Given the description of an element on the screen output the (x, y) to click on. 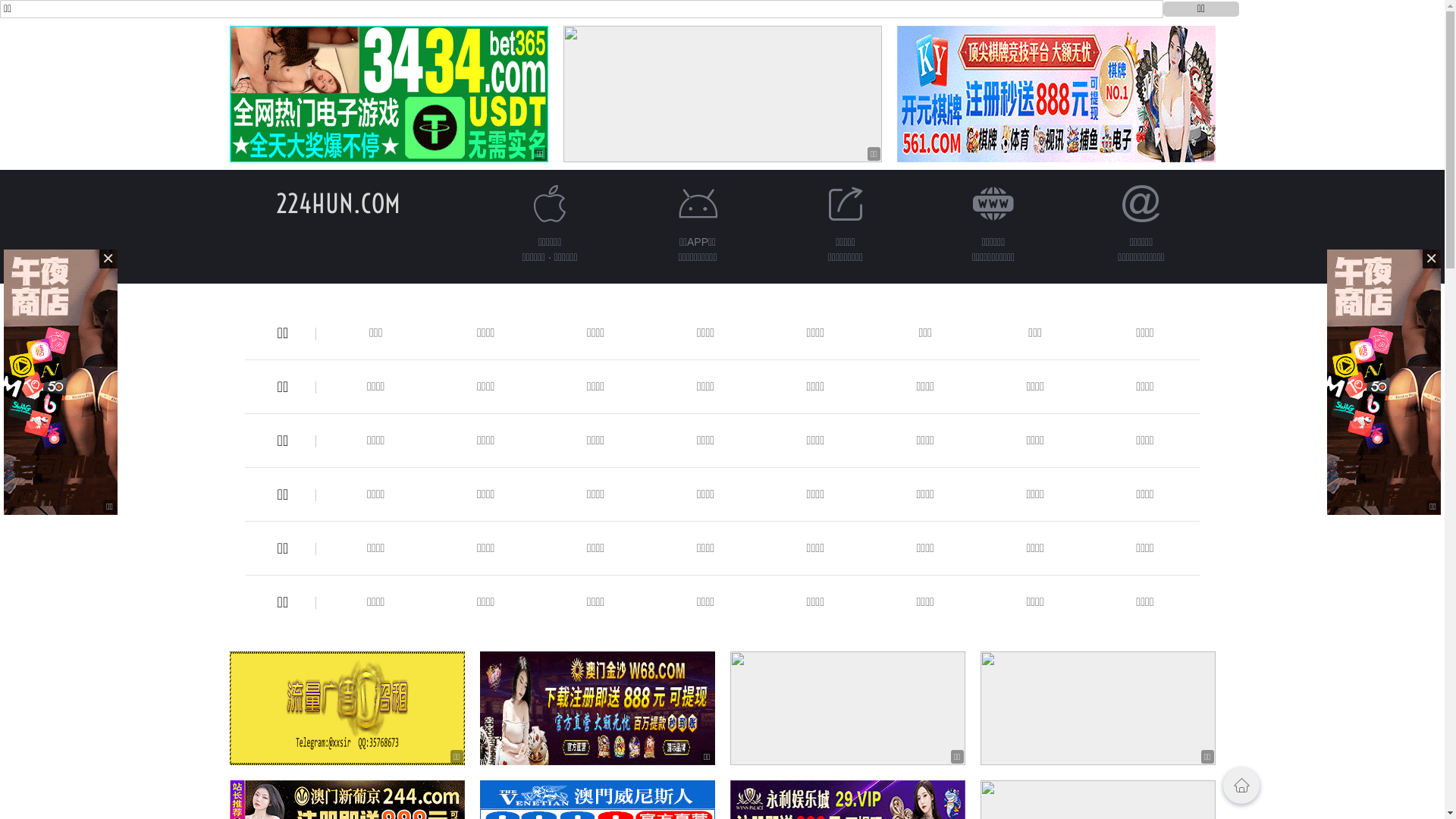
224HUN.COM Element type: text (338, 203)
